Given the description of an element on the screen output the (x, y) to click on. 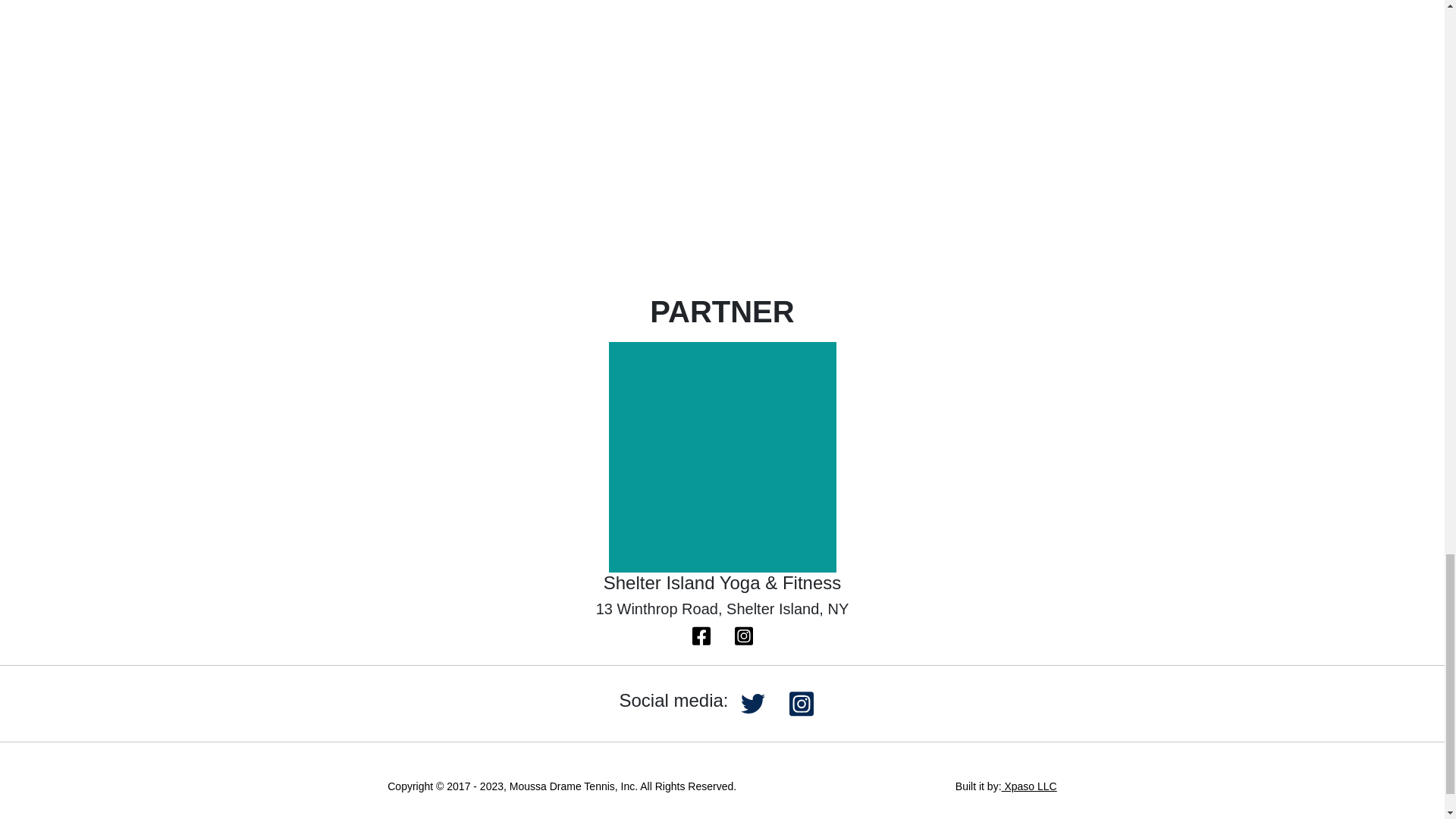
Xpaso LLC (1029, 786)
